Given the description of an element on the screen output the (x, y) to click on. 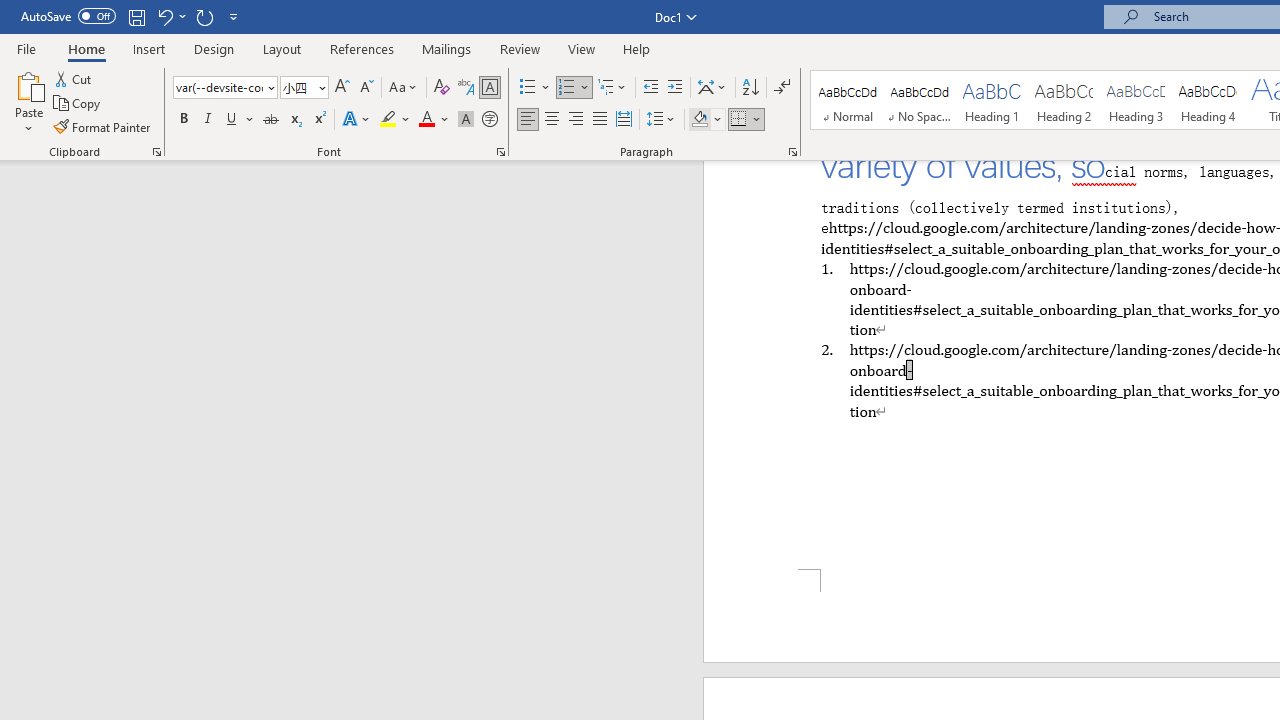
Paragraph... (792, 151)
Show/Hide Editing Marks (781, 87)
Shrink Font (365, 87)
Font... (500, 151)
